Given the description of an element on the screen output the (x, y) to click on. 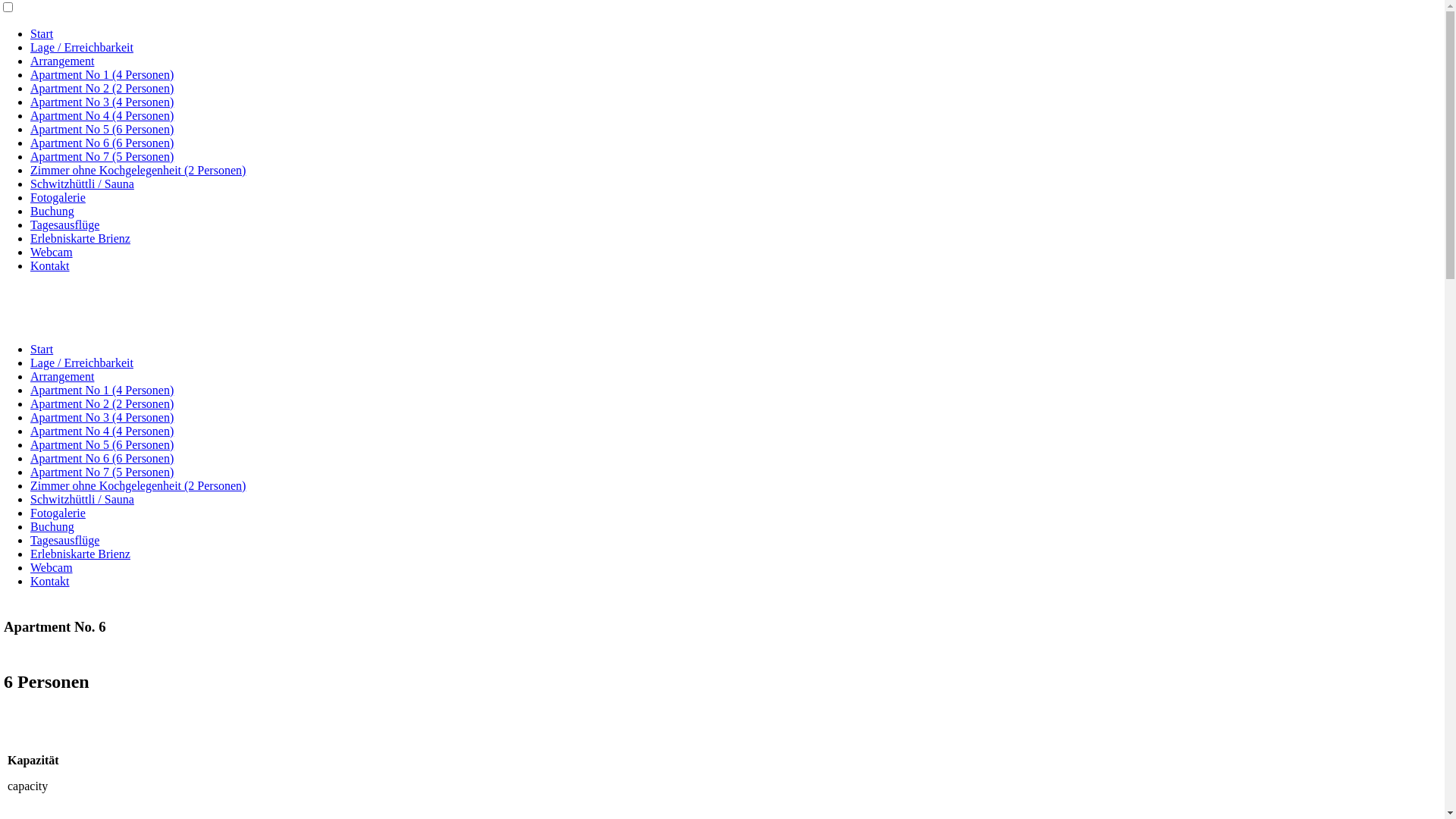
Zimmer ohne Kochgelegenheit (2 Personen) Element type: text (137, 169)
Apartment No 4 (4 Personen) Element type: text (101, 430)
Apartment No 3 (4 Personen) Element type: text (101, 101)
Kontakt Element type: text (49, 580)
Arrangement Element type: text (62, 376)
Buchung Element type: text (52, 210)
Apartment No 6 (6 Personen) Element type: text (101, 457)
Apartment No 7 (5 Personen) Element type: text (101, 471)
Apartment No 2 (2 Personen) Element type: text (101, 403)
Apartment No 6 (6 Personen) Element type: text (101, 142)
Zimmer ohne Kochgelegenheit (2 Personen) Element type: text (137, 485)
Fotogalerie Element type: text (57, 197)
Webcam Element type: text (51, 567)
Start Element type: text (41, 33)
Erlebniskarte Brienz Element type: text (80, 553)
Lage / Erreichbarkeit Element type: text (81, 362)
Webcam Element type: text (51, 251)
Apartment No 7 (5 Personen) Element type: text (101, 156)
Apartment No 3 (4 Personen) Element type: text (101, 417)
Apartment No 5 (6 Personen) Element type: text (101, 128)
Apartment No 1 (4 Personen) Element type: text (101, 389)
Buchung Element type: text (52, 526)
Apartment No 4 (4 Personen) Element type: text (101, 115)
Arrangement Element type: text (62, 60)
Apartment No 2 (2 Personen) Element type: text (101, 87)
Kontakt Element type: text (49, 265)
Apartment No 5 (6 Personen) Element type: text (101, 444)
Start Element type: text (41, 348)
Lage / Erreichbarkeit Element type: text (81, 46)
Erlebniskarte Brienz Element type: text (80, 238)
Apartment No 1 (4 Personen) Element type: text (101, 74)
Fotogalerie Element type: text (57, 512)
